Given the description of an element on the screen output the (x, y) to click on. 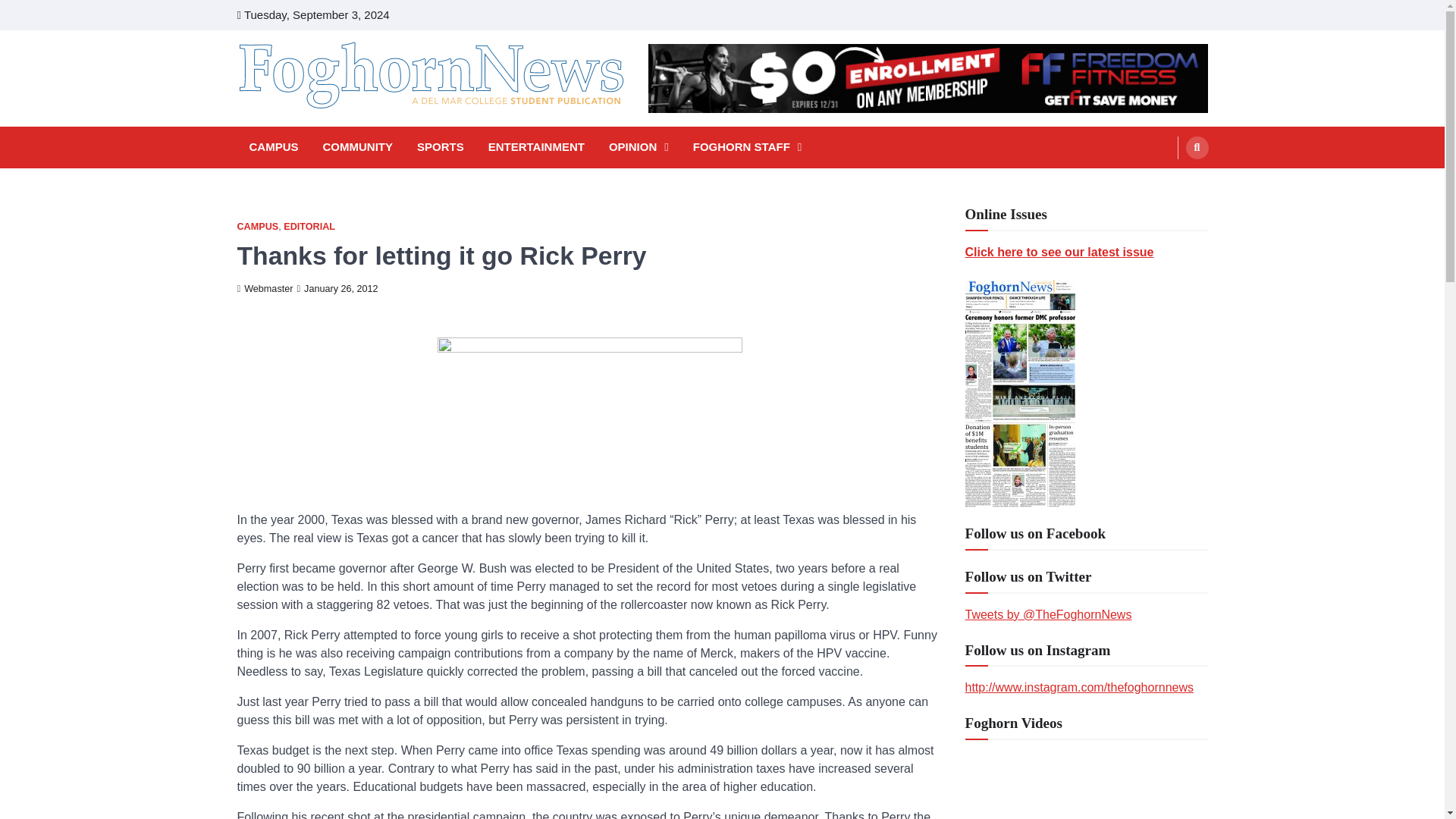
Webmaster (263, 288)
Click here to see our latest issue (1058, 251)
CAMPUS (256, 226)
ENTERTAINMENT (536, 147)
FOGHORN NEWS (342, 130)
FOGHORN STAFF (747, 147)
Search (1197, 147)
CAMPUS (273, 147)
Search (1168, 183)
SPORTS (440, 147)
